Given the description of an element on the screen output the (x, y) to click on. 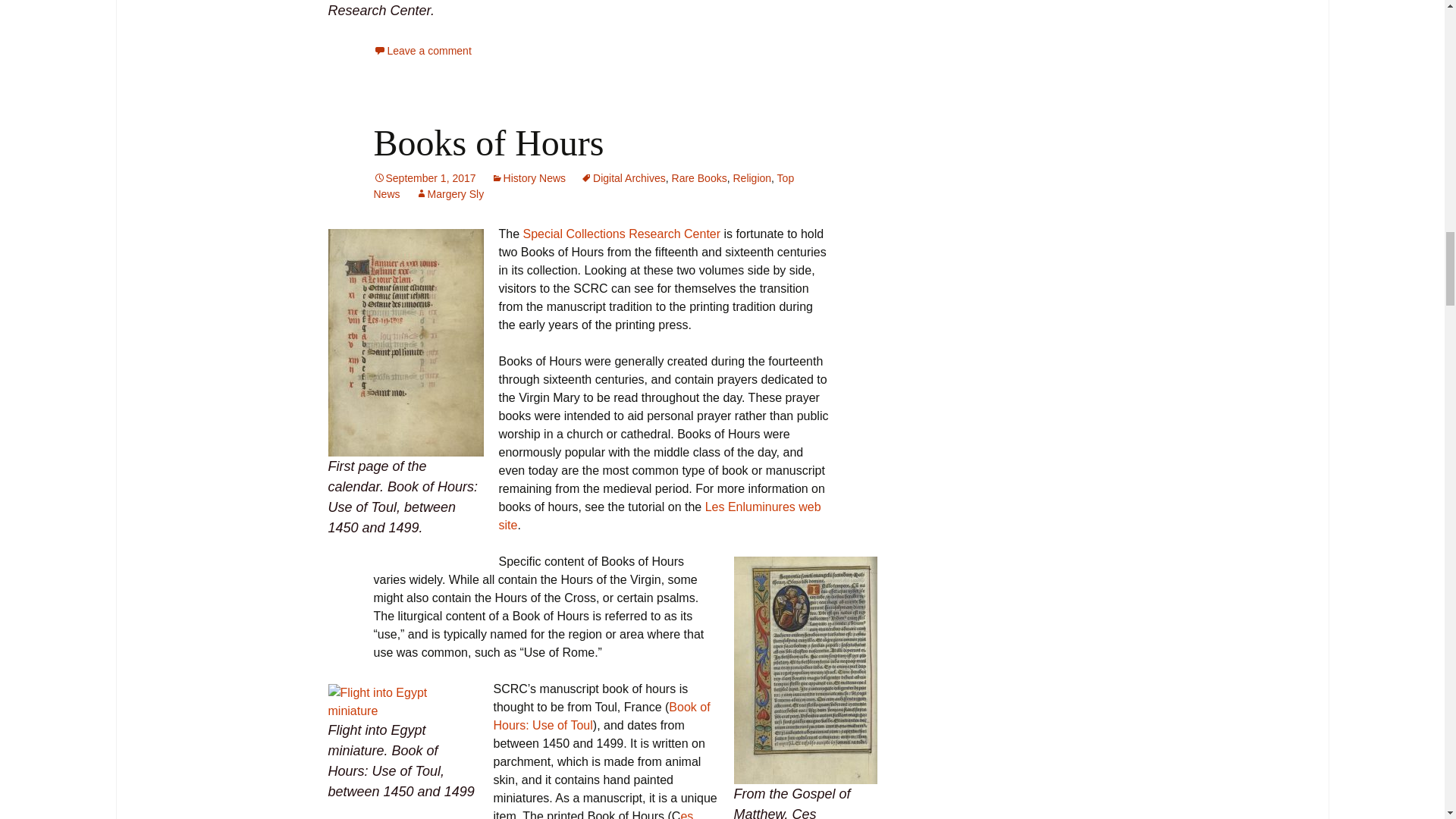
Leave a comment (421, 50)
Permalink to Books of Hours (424, 177)
View all posts by Margery Sly (449, 193)
